Given the description of an element on the screen output the (x, y) to click on. 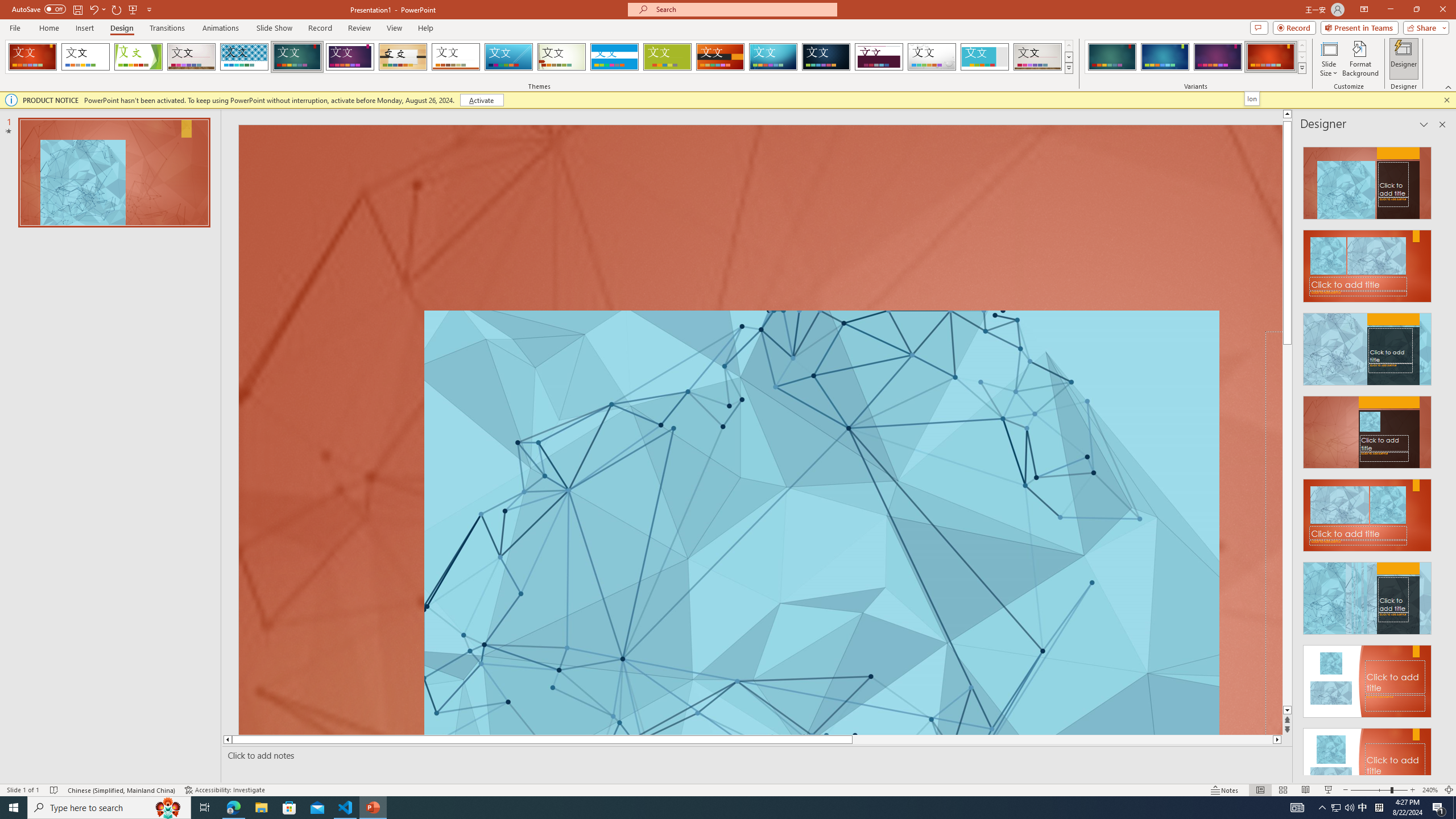
Banded (614, 56)
Retrospect (455, 56)
Ion Boardroom (350, 56)
Organic (403, 56)
Droplet (931, 56)
Circuit (772, 56)
